Given the description of an element on the screen output the (x, y) to click on. 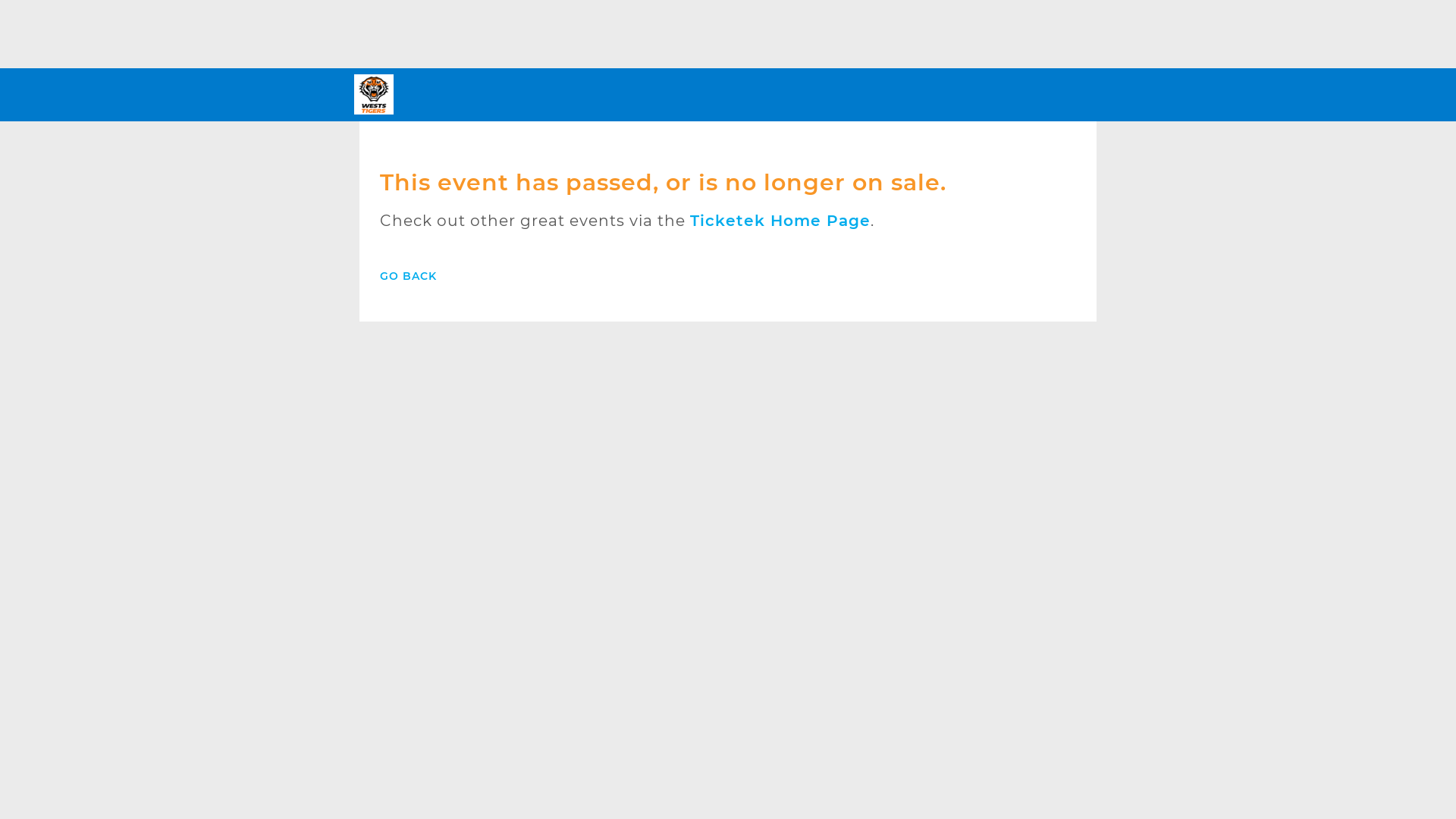
Ticketek Home Page Element type: text (780, 219)
GO BACK Element type: text (407, 275)
